Given the description of an element on the screen output the (x, y) to click on. 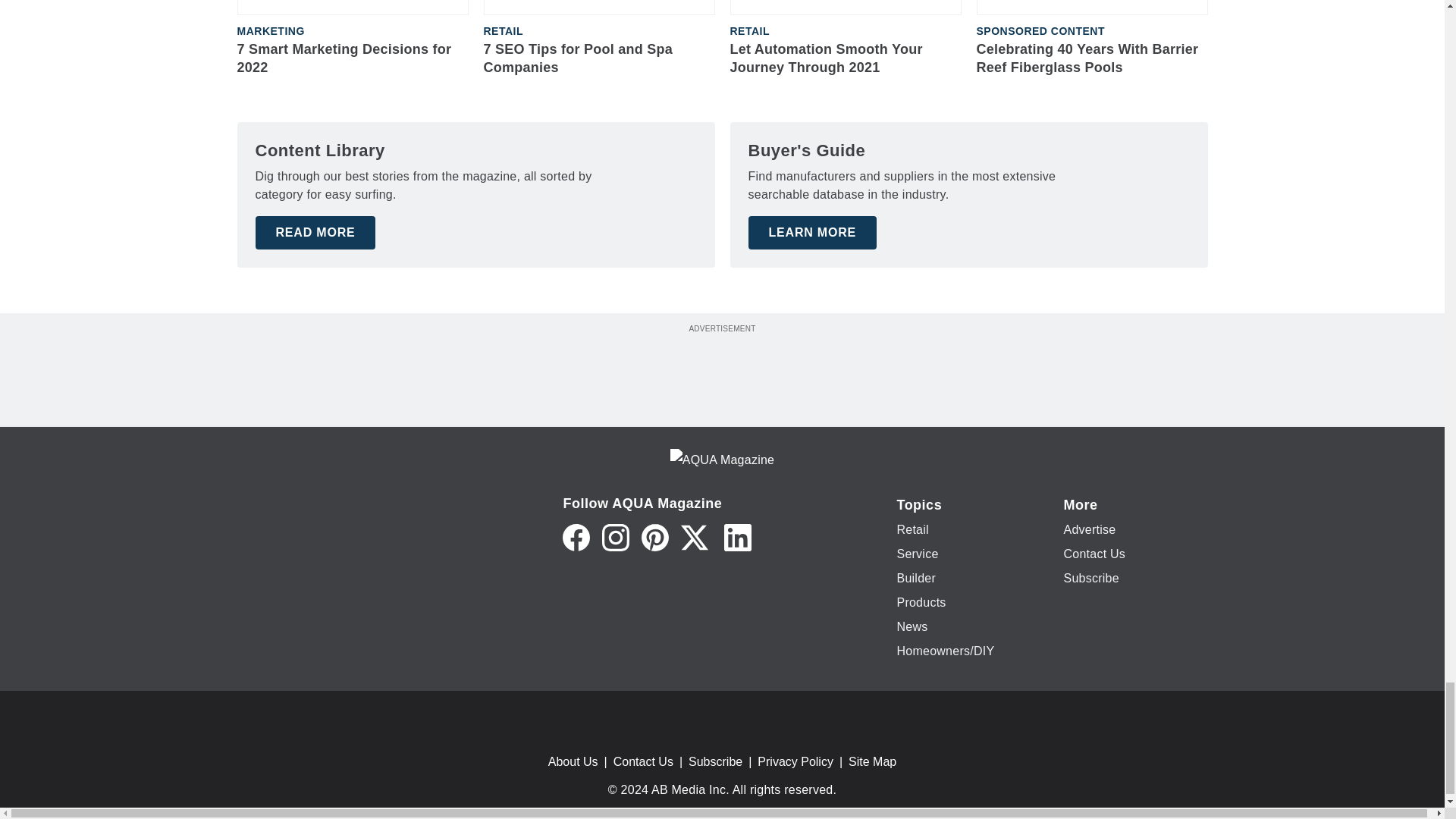
Pinterest icon (655, 537)
Twitter X icon (694, 537)
Facebook icon (575, 537)
LinkedIn icon (737, 537)
Instagram icon (615, 537)
